Given the description of an element on the screen output the (x, y) to click on. 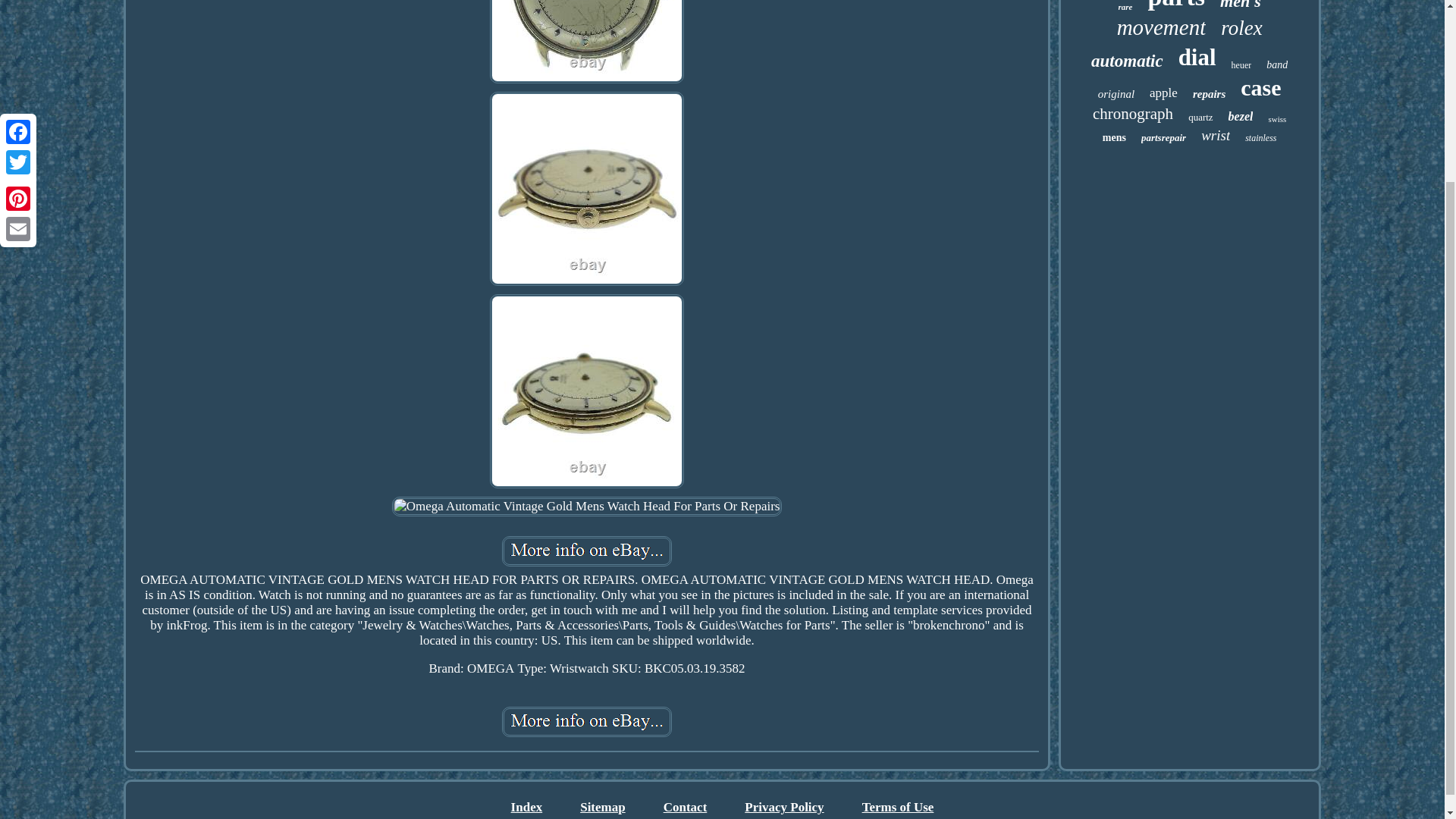
movement (1161, 27)
repairs (1208, 93)
dial (1196, 57)
chronograph (1133, 113)
parts (1176, 5)
automatic (1126, 61)
case (1260, 87)
